Given the description of an element on the screen output the (x, y) to click on. 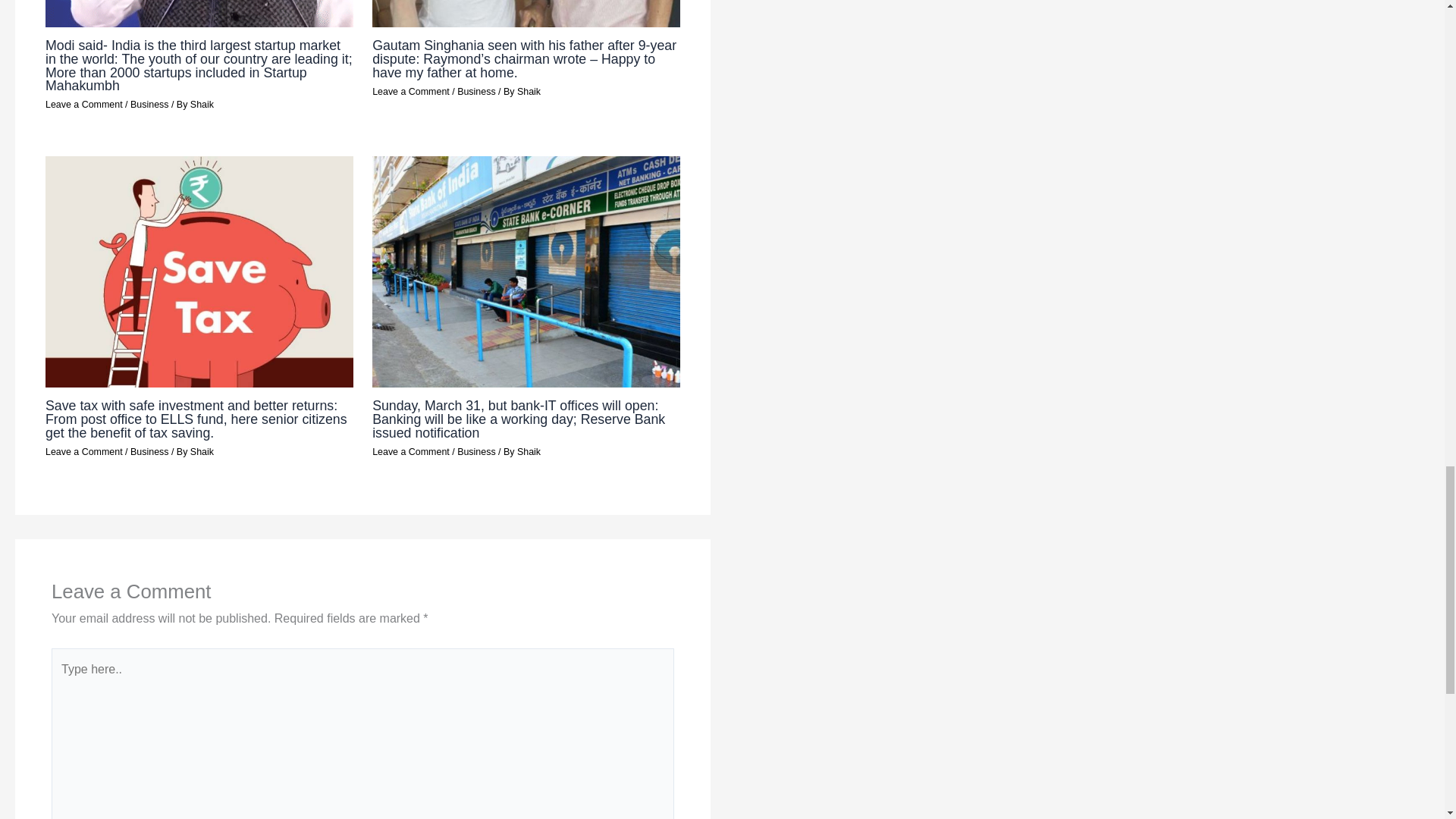
Business (476, 451)
Shaik (528, 91)
Shaik (202, 451)
View all posts by Shaik (202, 104)
Leave a Comment (410, 91)
View all posts by Shaik (528, 91)
Shaik (202, 104)
Business (149, 451)
View all posts by Shaik (528, 451)
Shaik (528, 451)
Leave a Comment (410, 451)
Business (149, 104)
